Given the description of an element on the screen output the (x, y) to click on. 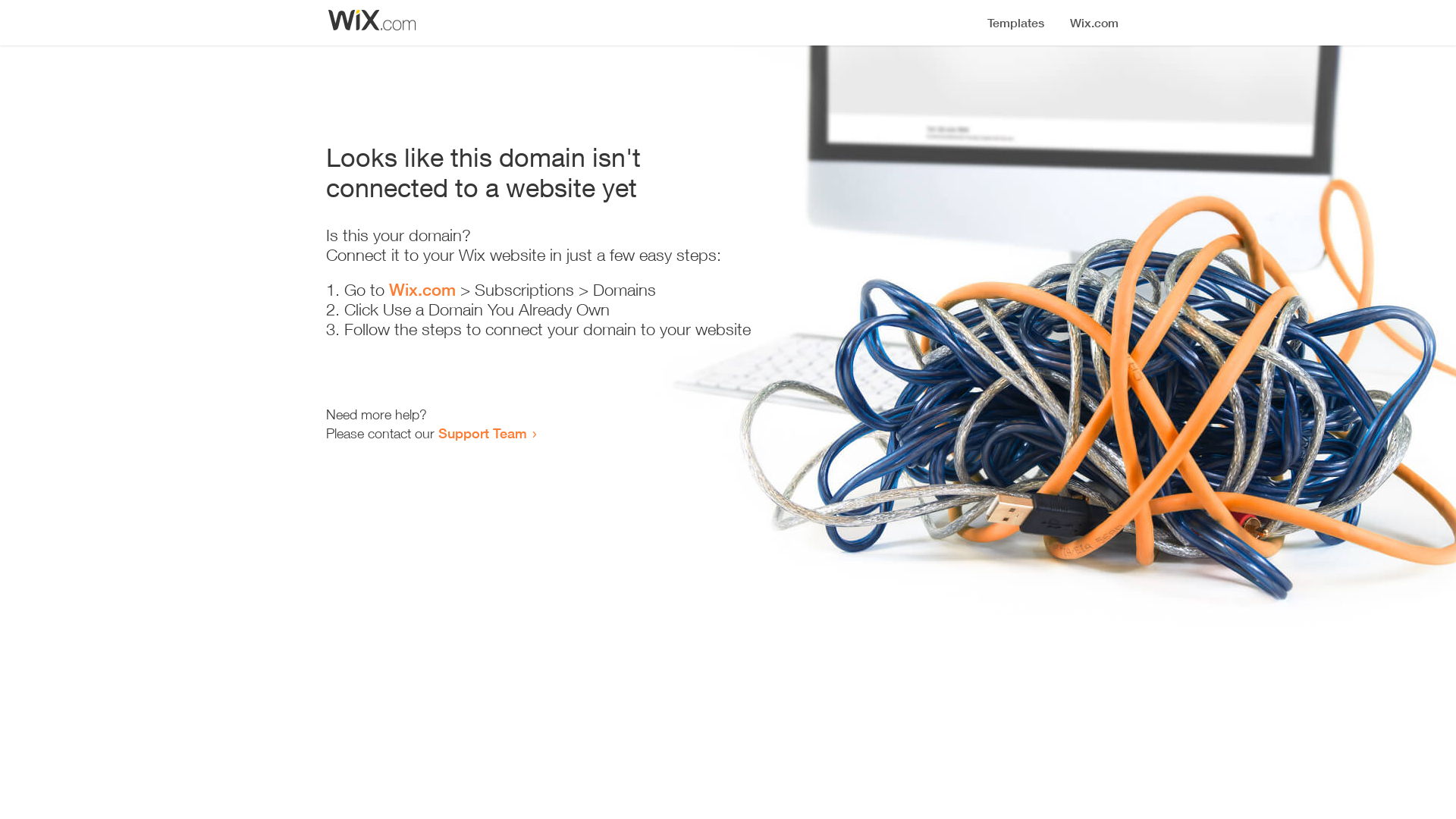
Wix.com Element type: text (422, 289)
Support Team Element type: text (482, 432)
